Given the description of an element on the screen output the (x, y) to click on. 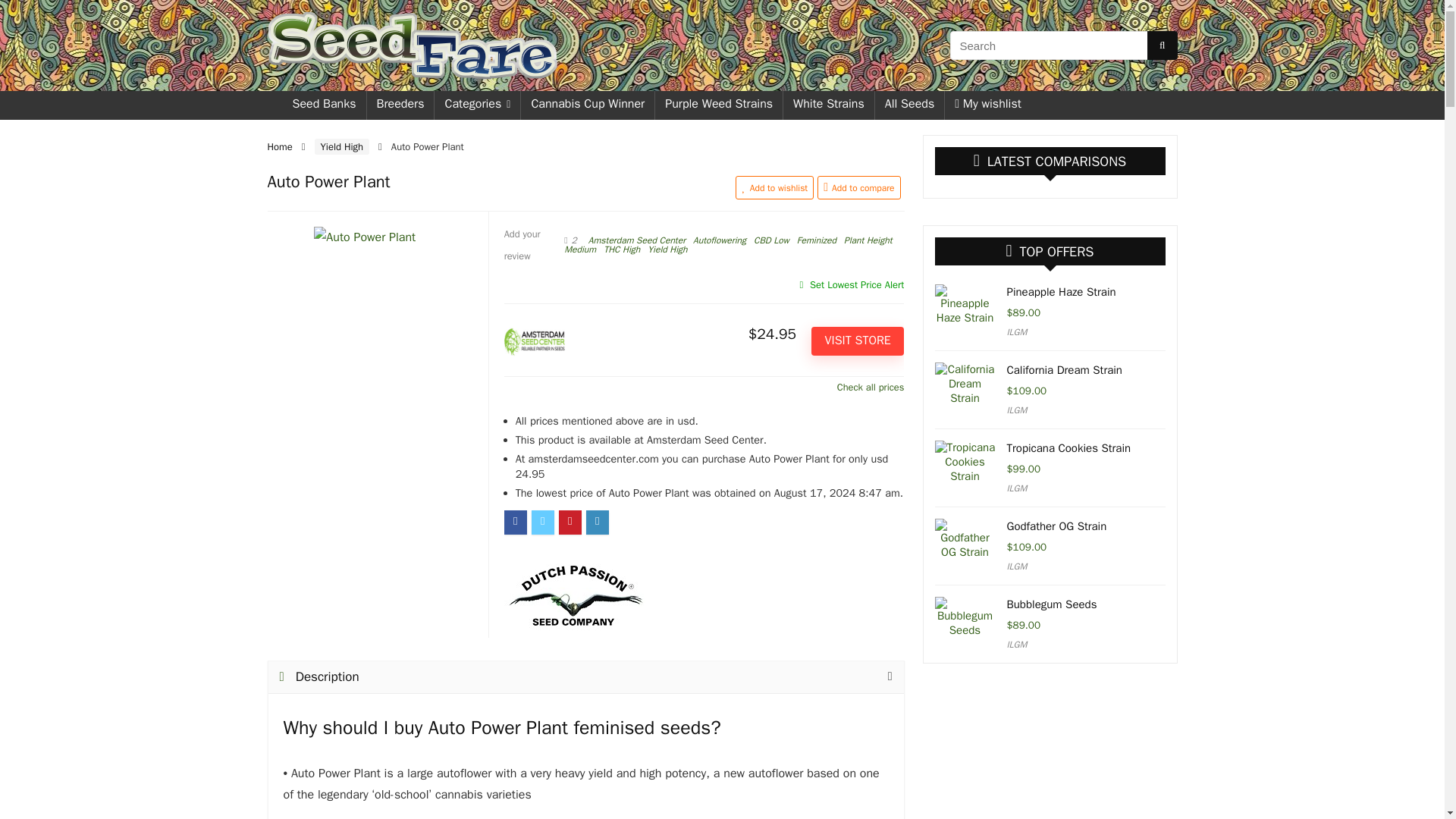
Check all prices (703, 387)
Categories (476, 104)
View all posts in THC High (622, 249)
View all posts in CBD Low (771, 240)
View all posts in Amsterdam Seed Center (636, 240)
View all posts in Plant Height Medium (727, 245)
THC High (622, 249)
All Seeds (909, 104)
View all posts in Yield High (667, 249)
White Strains (829, 104)
